Given the description of an element on the screen output the (x, y) to click on. 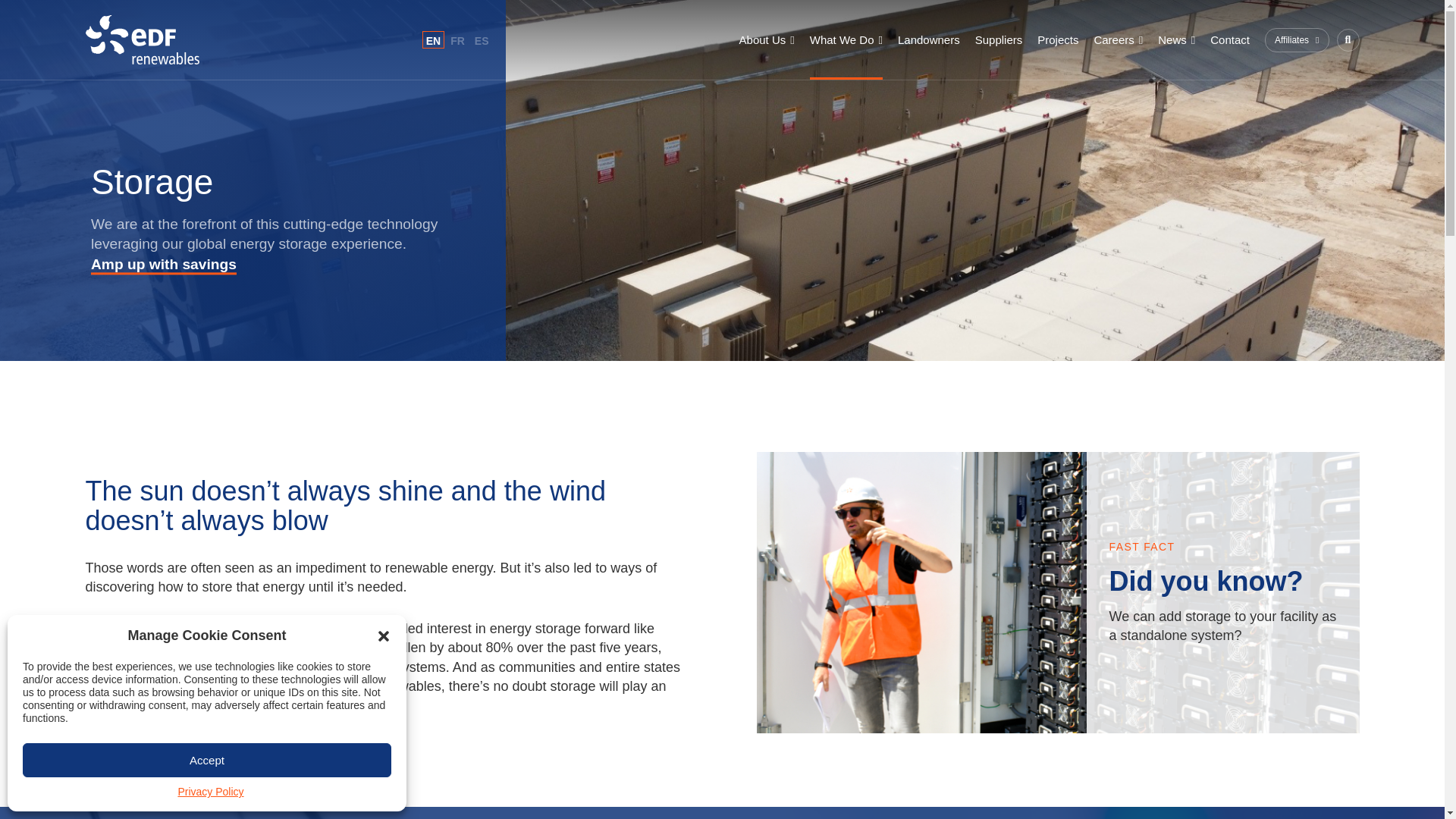
Accept (207, 759)
Privacy Policy (210, 792)
